Given the description of an element on the screen output the (x, y) to click on. 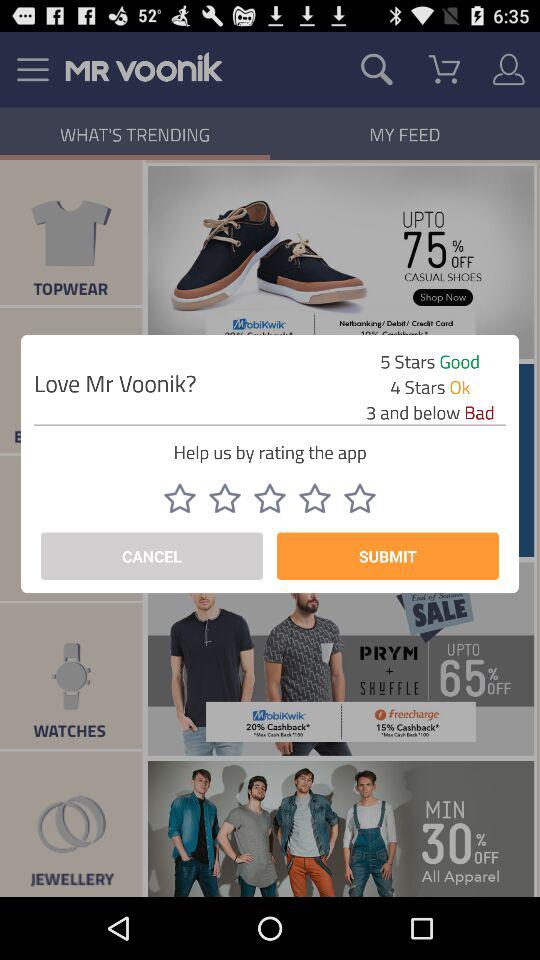
rate as bad (270, 498)
